Given the description of an element on the screen output the (x, y) to click on. 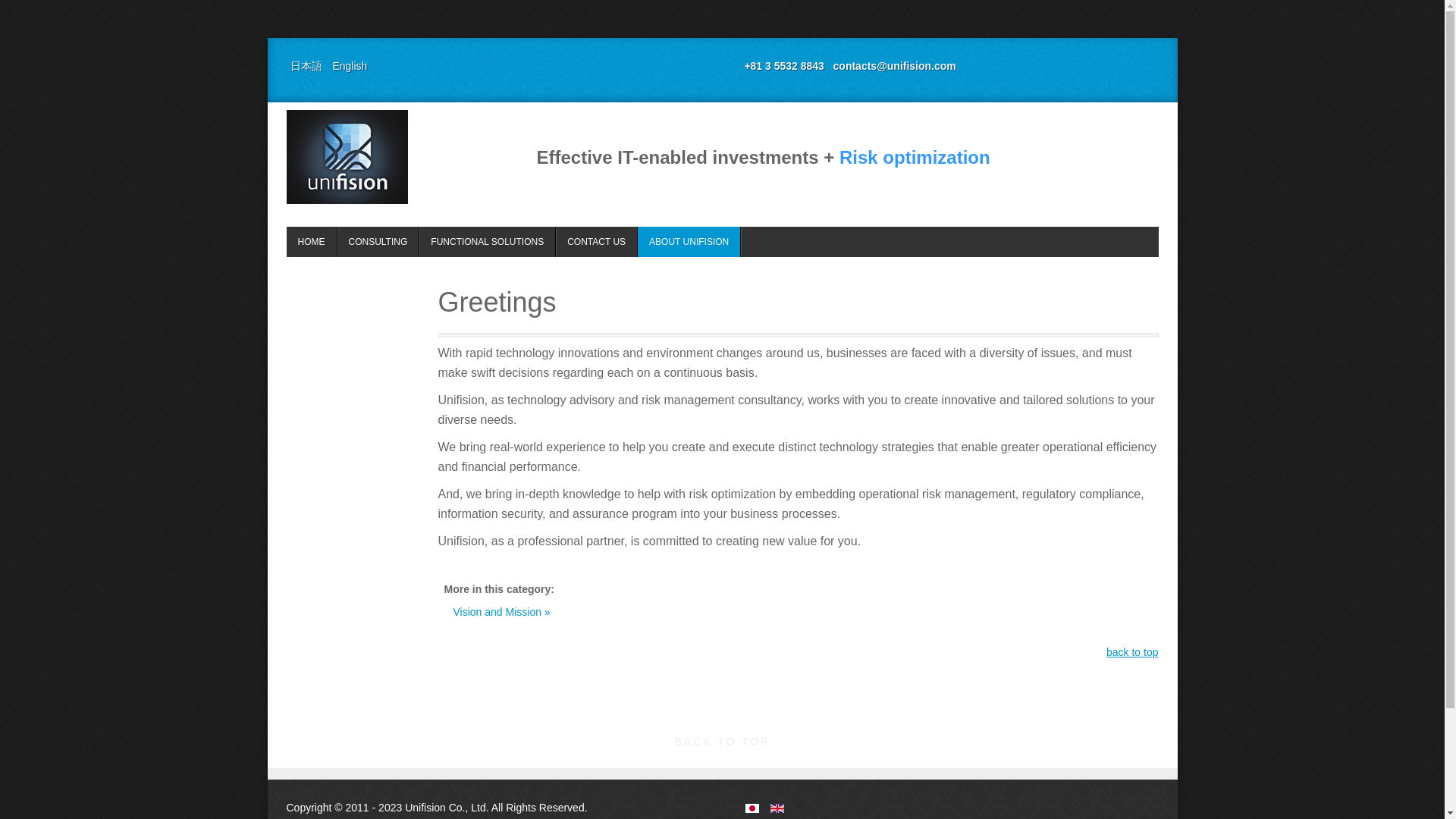
CONTACT US (596, 241)
back to top (1132, 652)
BACK TO TOP (721, 741)
ABOUT UNIFISION (689, 241)
English (777, 808)
English (348, 65)
HOME (346, 156)
FUNCTIONAL SOLUTIONS (311, 241)
CONSULTING (487, 241)
